Given the description of an element on the screen output the (x, y) to click on. 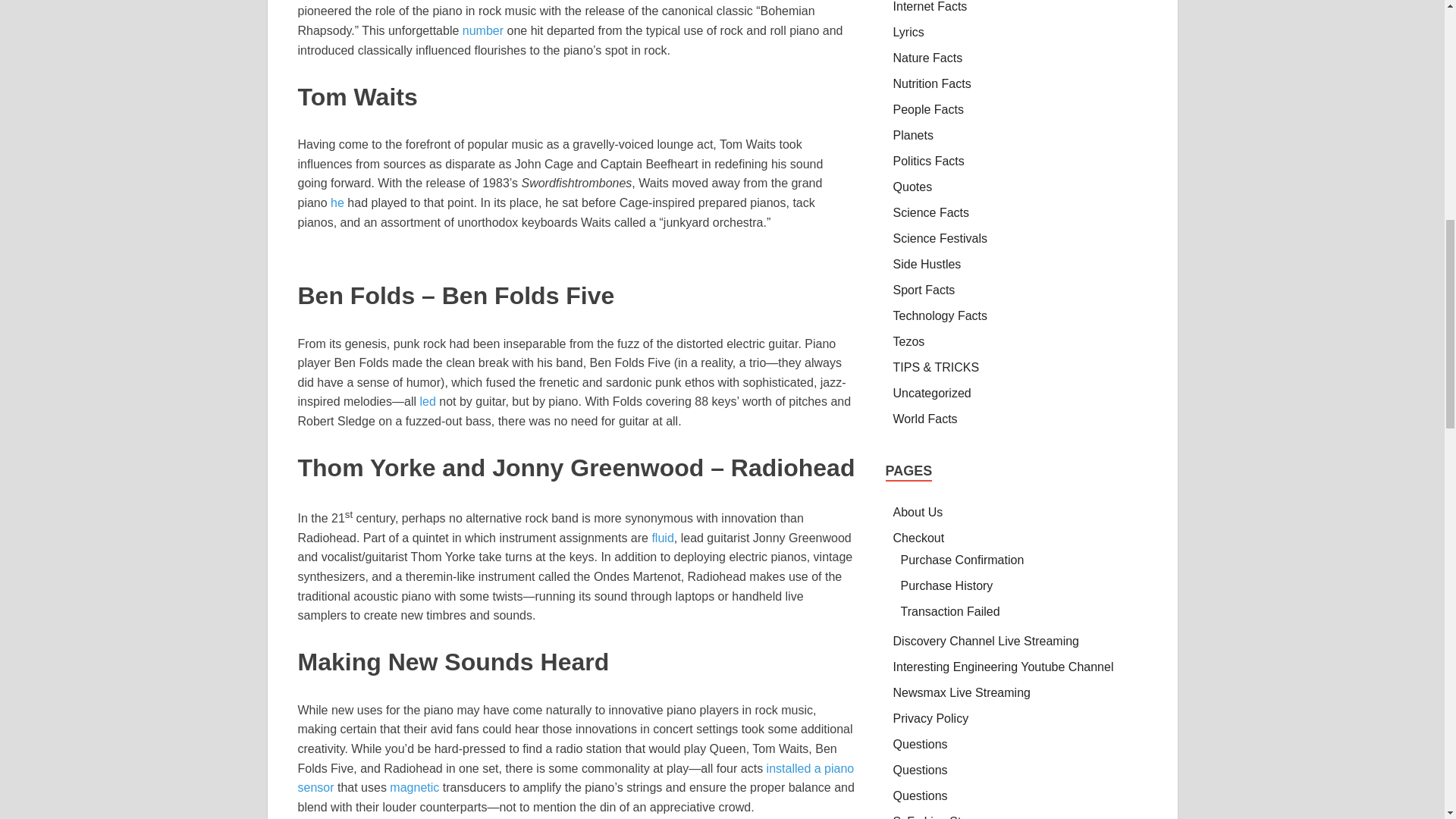
magnetic (414, 787)
fluid (661, 537)
he (336, 202)
installed a piano sensor (575, 778)
led (427, 400)
number (483, 30)
